Given the description of an element on the screen output the (x, y) to click on. 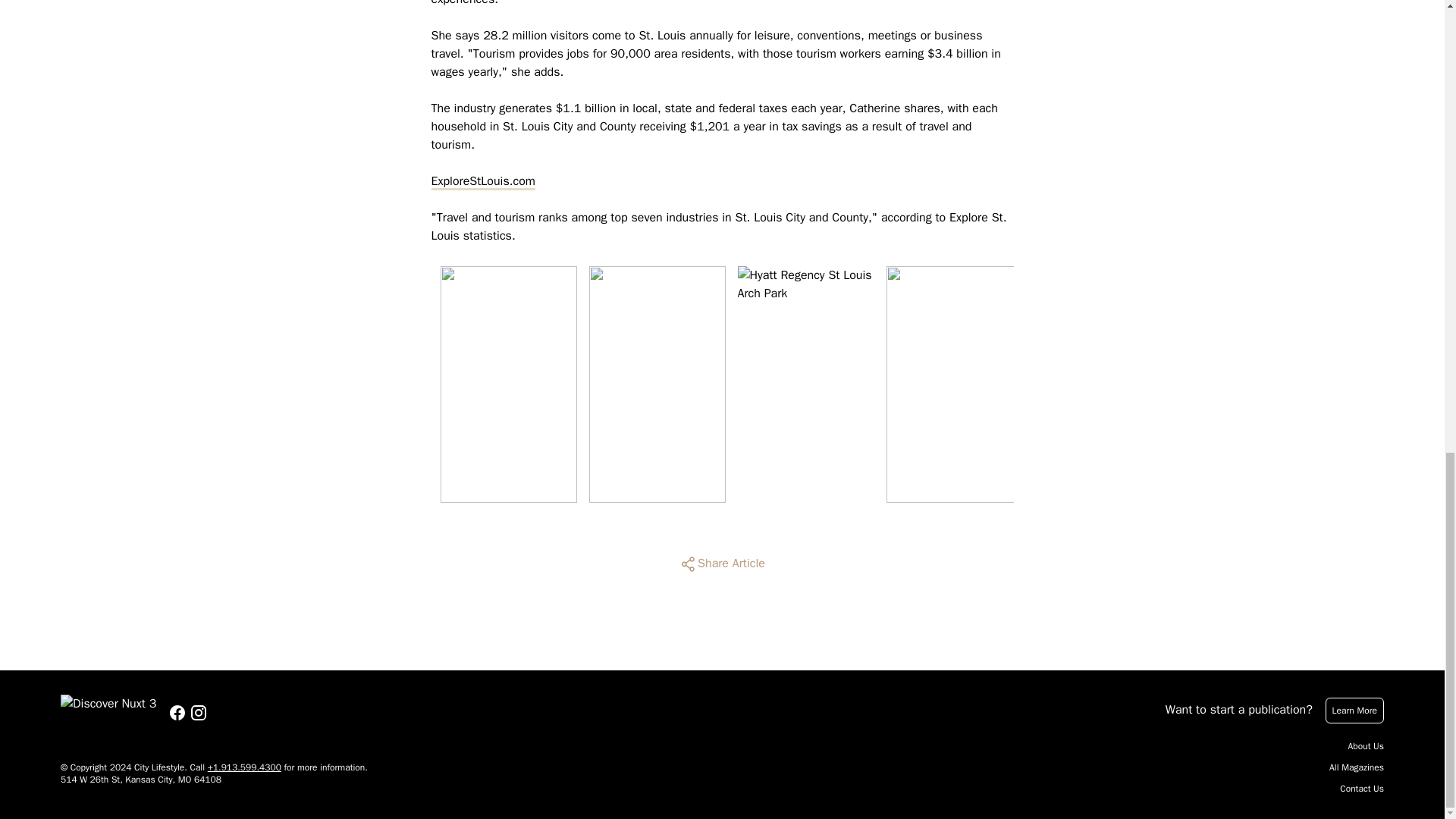
Share Article (722, 563)
All Magazines (1356, 767)
Learn More (1354, 710)
About Us (1366, 746)
ExploreStLouis.com (482, 180)
Contact Us (1361, 788)
